Given the description of an element on the screen output the (x, y) to click on. 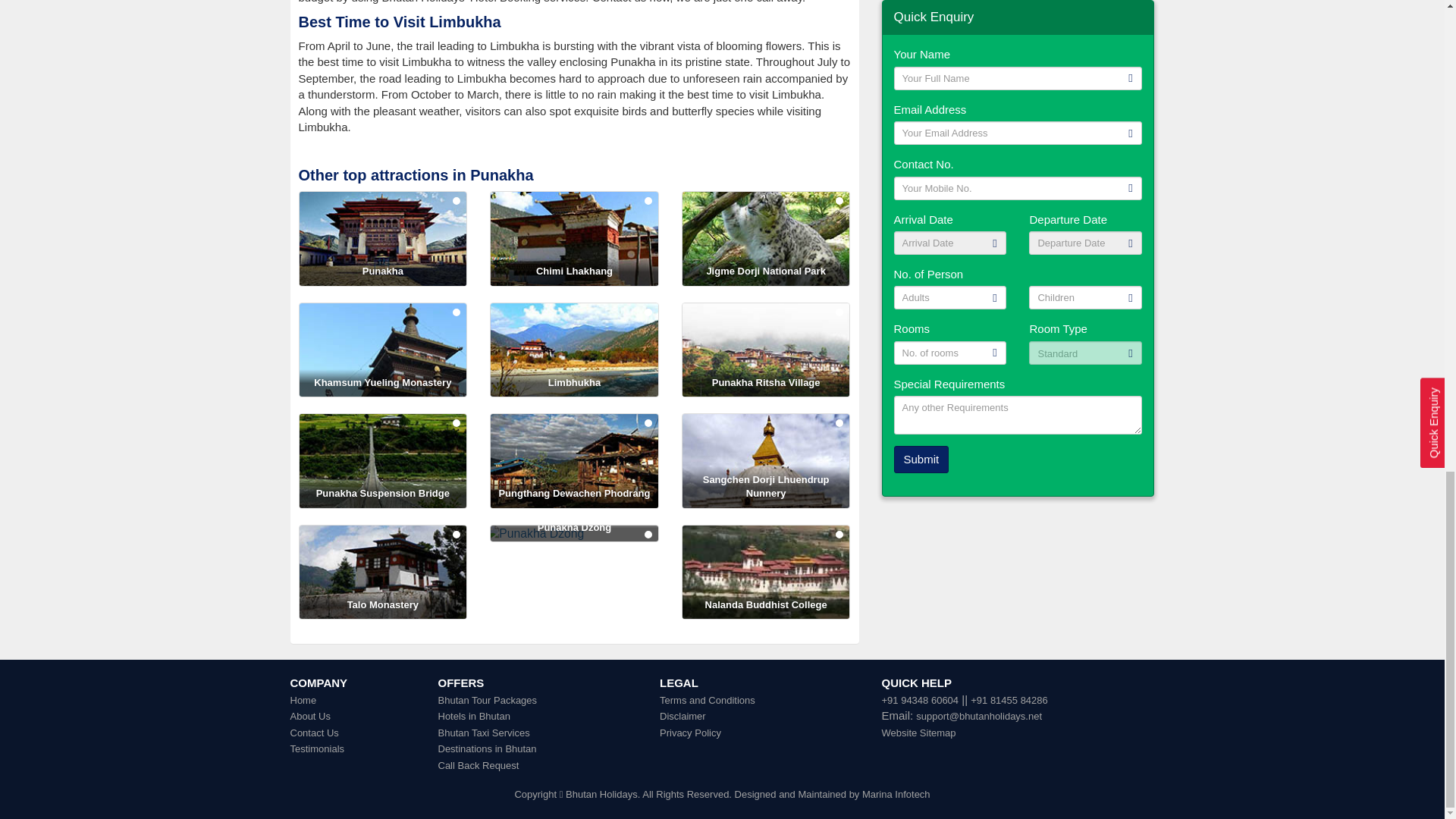
Pungthang Dewachen Phodrang (574, 460)
Sangchen Dorji Lhuendrup Nunnery (765, 460)
Chimi Lhakhang (574, 238)
Limbhukha (574, 350)
Punakha Suspension Bridge (382, 460)
Khamsum Yueling Monastery (382, 350)
Jigme Dorji National Park (765, 238)
Punakha Ritsha Village (765, 350)
Punakha (382, 238)
